Given the description of an element on the screen output the (x, y) to click on. 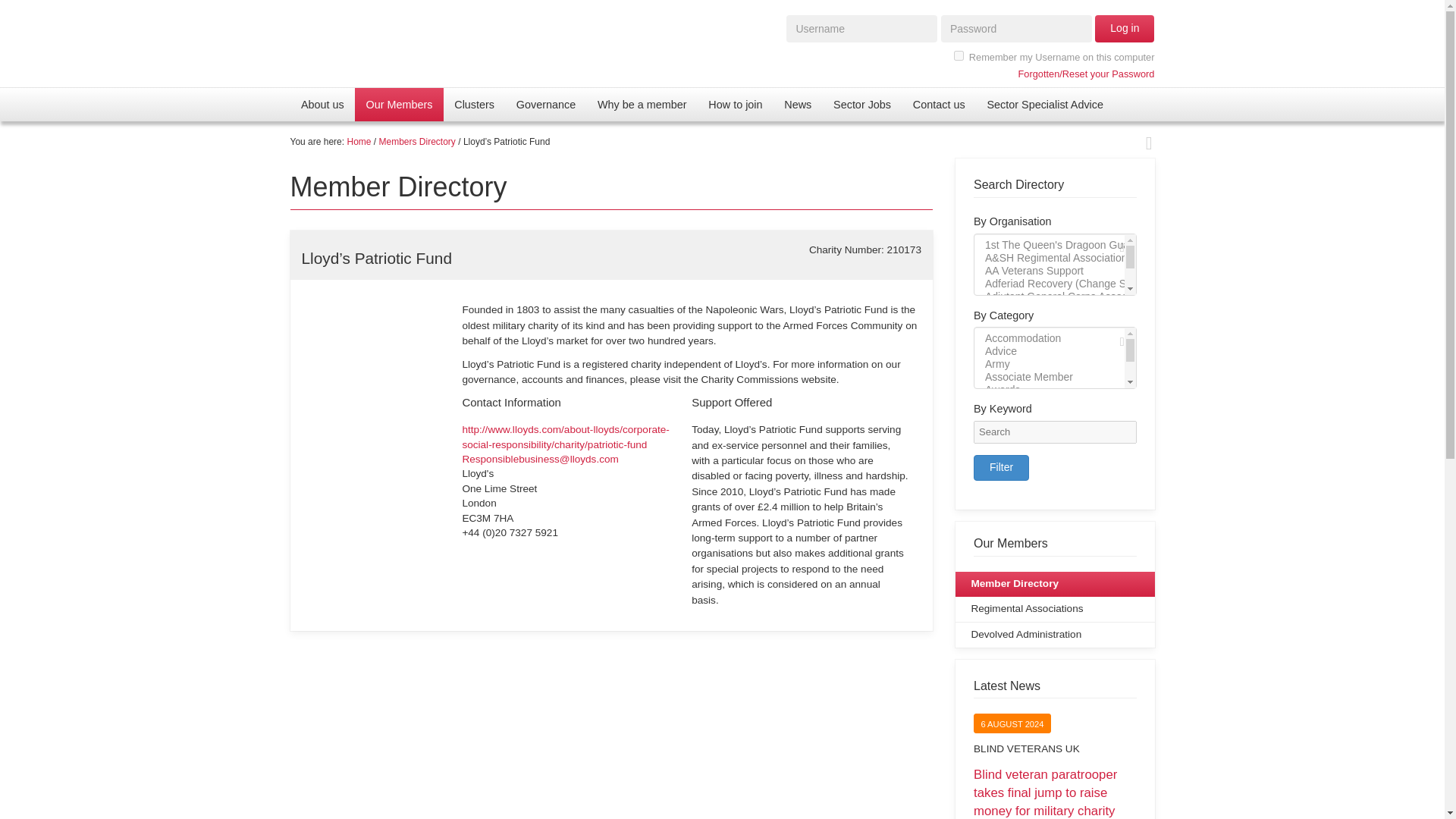
Why be a member (641, 104)
Log in (1124, 28)
About us (322, 104)
News (797, 104)
Contact us (938, 104)
Sector Jobs (862, 104)
Governance (545, 104)
How to join (735, 104)
Sector Specialist Advice (1044, 104)
forever (958, 55)
Filter (1001, 467)
Our Members (399, 104)
Clusters (474, 104)
